Given the description of an element on the screen output the (x, y) to click on. 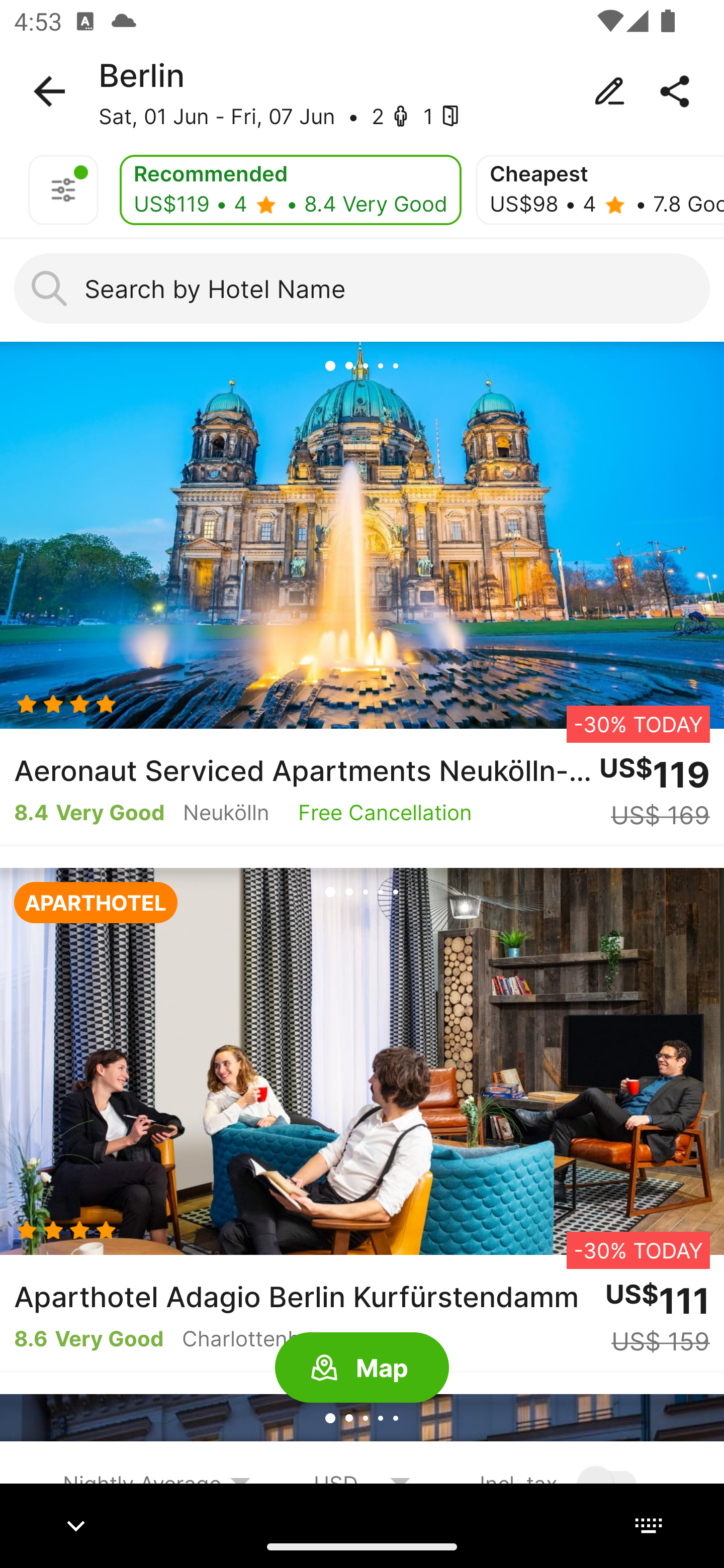
Berlin Sat, 01 Jun - Fri, 07 Jun  •  2 -  1 - (361, 91)
Recommended  US$119  • 4 - • 8.4 Very Good (290, 190)
Cheapest US$98  • 4 - • 7.8 Good (599, 190)
Search by Hotel Name  (361, 288)
Map  (361, 1367)
